Given the description of an element on the screen output the (x, y) to click on. 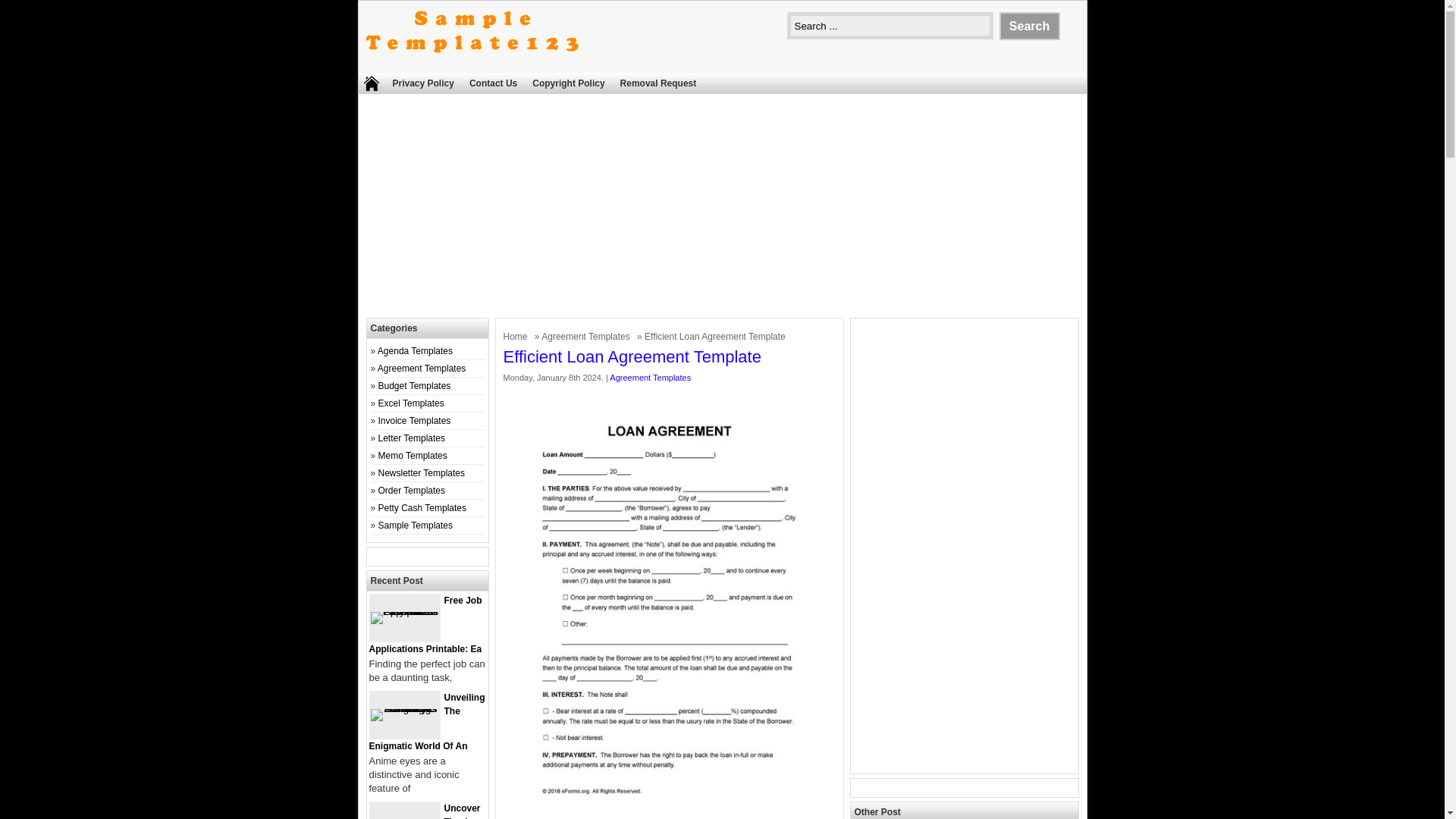
Contact Us (492, 83)
Removal Request (658, 83)
Newsletter Templates (421, 472)
Agreement Templates (650, 377)
Letter Templates (411, 438)
Home (517, 336)
Excel Templates (411, 403)
Invoice Templates (414, 420)
Agreement Templates (421, 368)
Agreement Templates (587, 336)
Agreement Templates (587, 336)
Order Templates (411, 490)
Privacy Policy (423, 83)
Copyright Policy (567, 83)
